Given the description of an element on the screen output the (x, y) to click on. 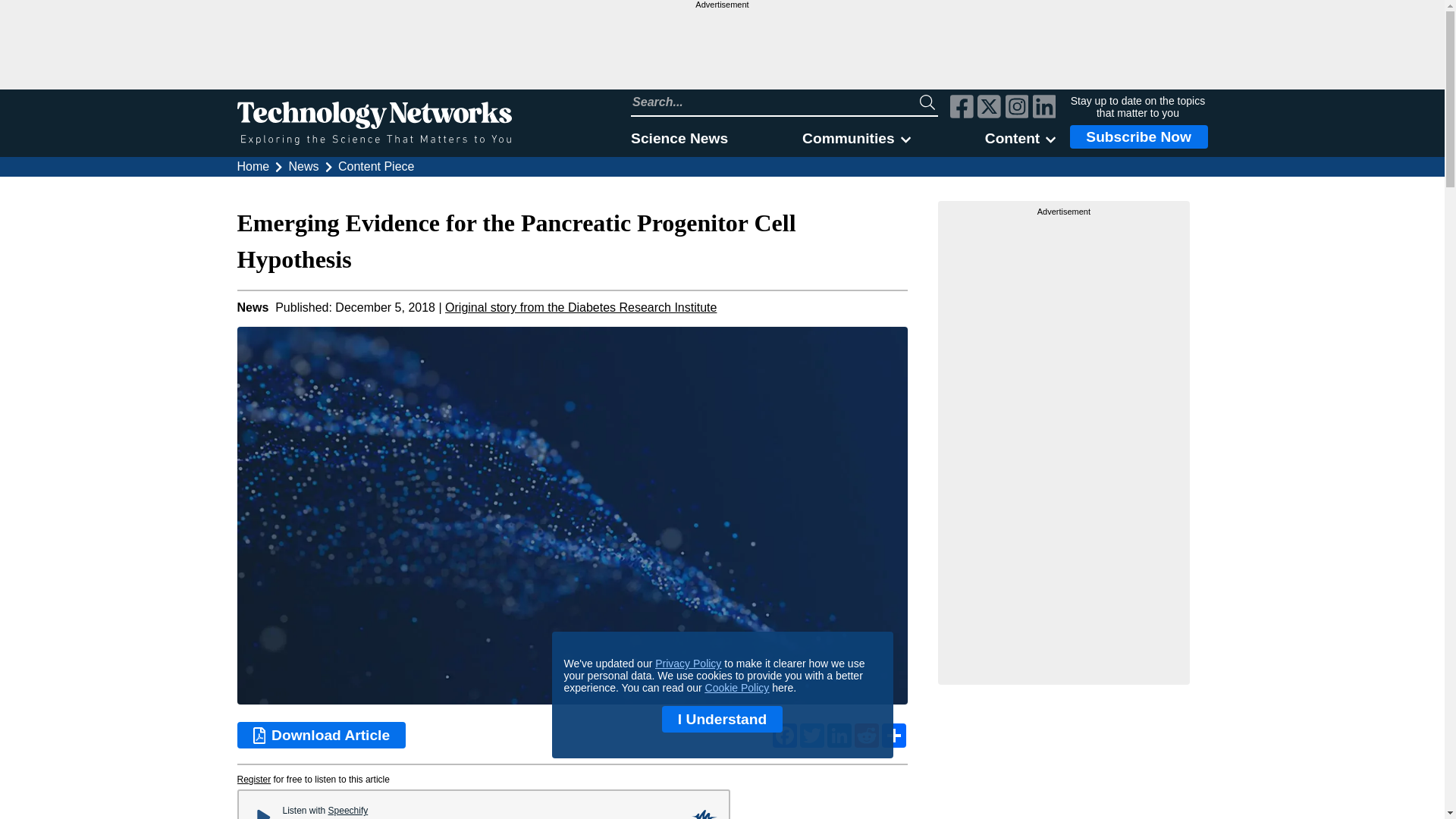
Link to Technology Networks' linkedin page (1044, 108)
Click here to visit the original source for this content. (580, 307)
Technology Networks logo a link to home page (373, 122)
Privacy Policy (687, 663)
I Understand (722, 718)
3rd party ad content (721, 49)
Search Technology Networks website input field (775, 102)
Link to Technology Networks' twitter page (988, 108)
Link to Technology Networks' facebook page (962, 108)
Link to Technology Networks' instagram page (1017, 108)
3rd party ad content (1063, 444)
Cookie Policy (737, 687)
